Given the description of an element on the screen output the (x, y) to click on. 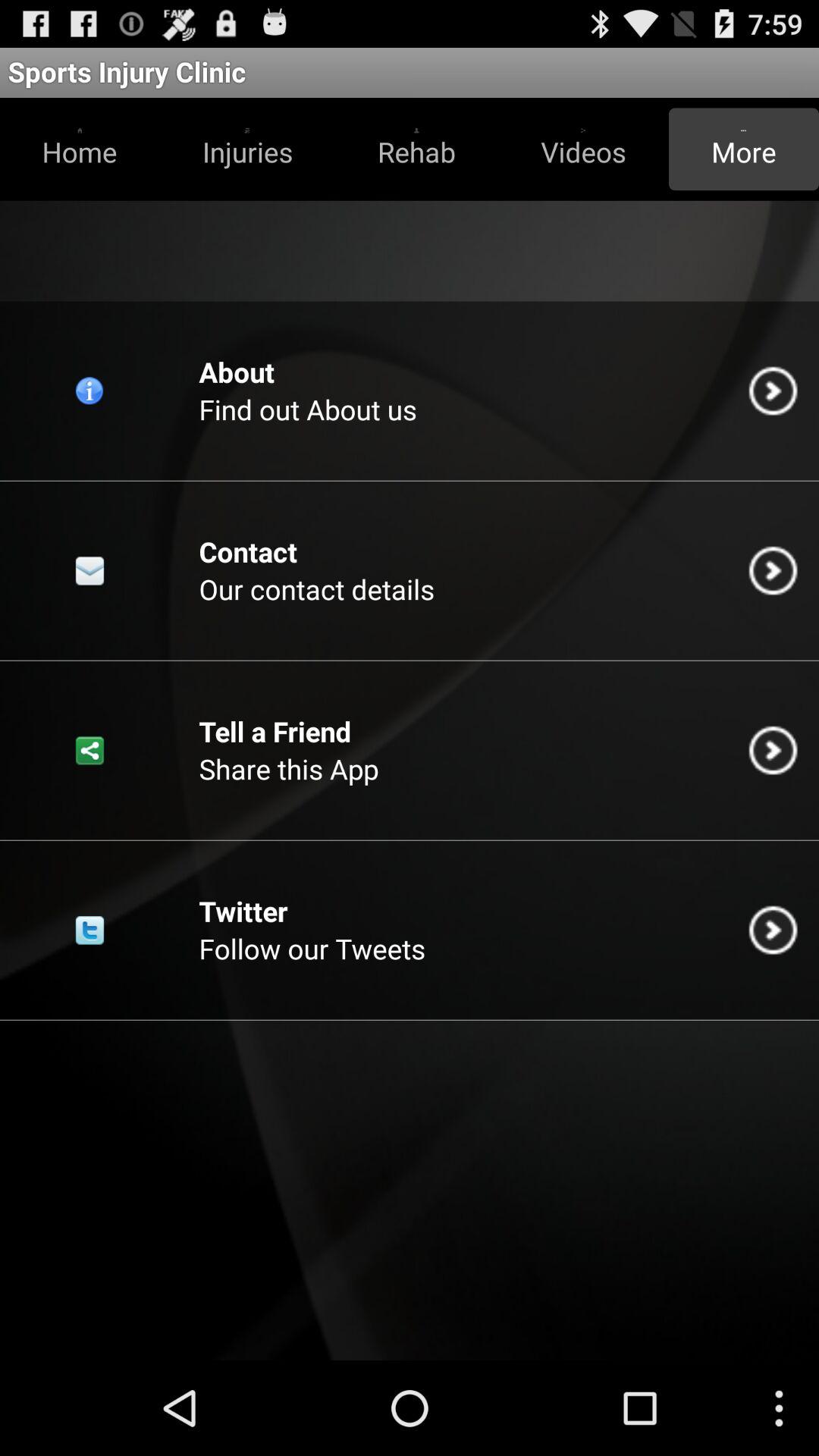
select item below the sports injury clinic icon (416, 149)
